Given the description of an element on the screen output the (x, y) to click on. 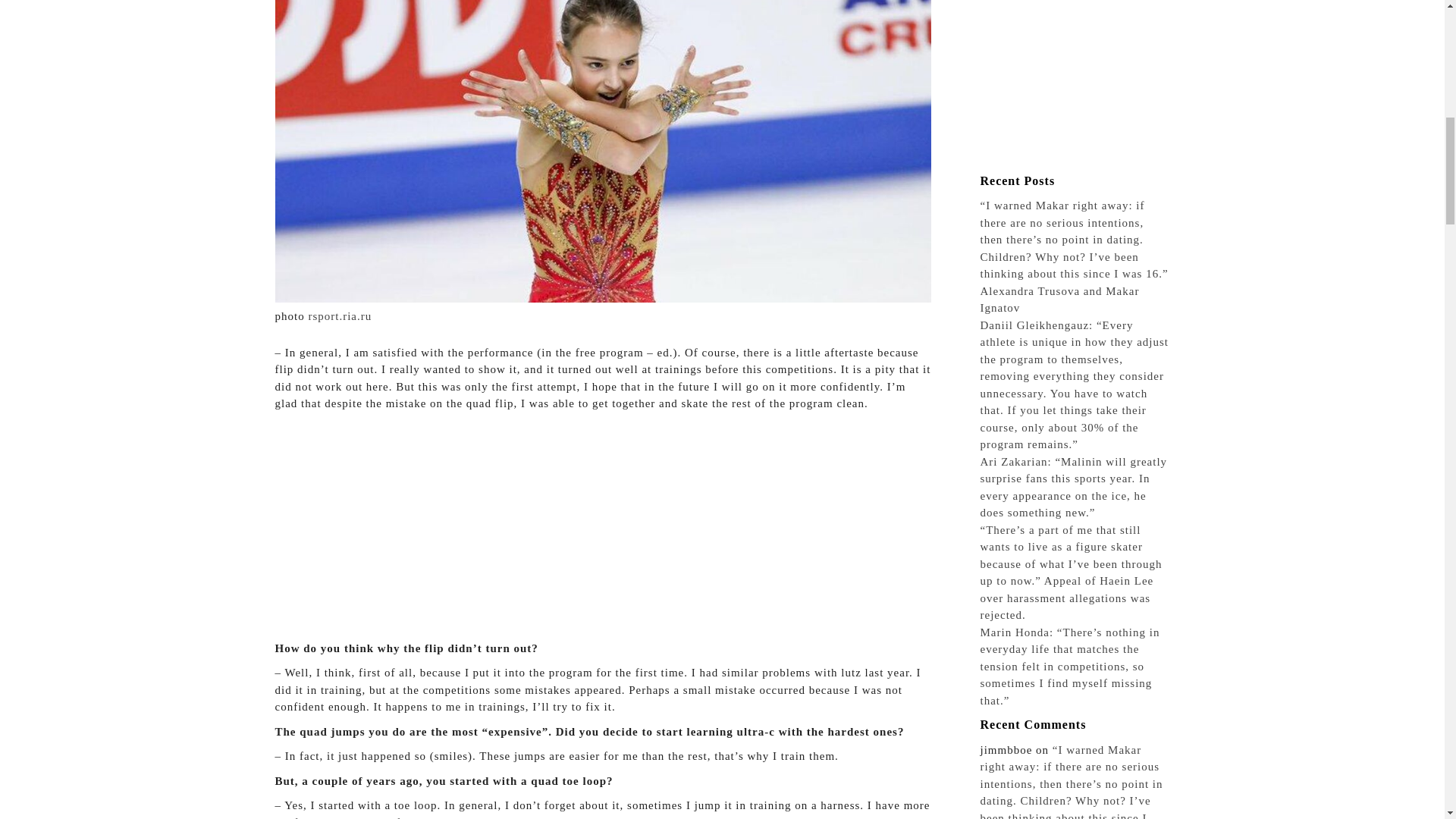
Advertisement (1074, 82)
rsport.ria.ru (339, 316)
